Given the description of an element on the screen output the (x, y) to click on. 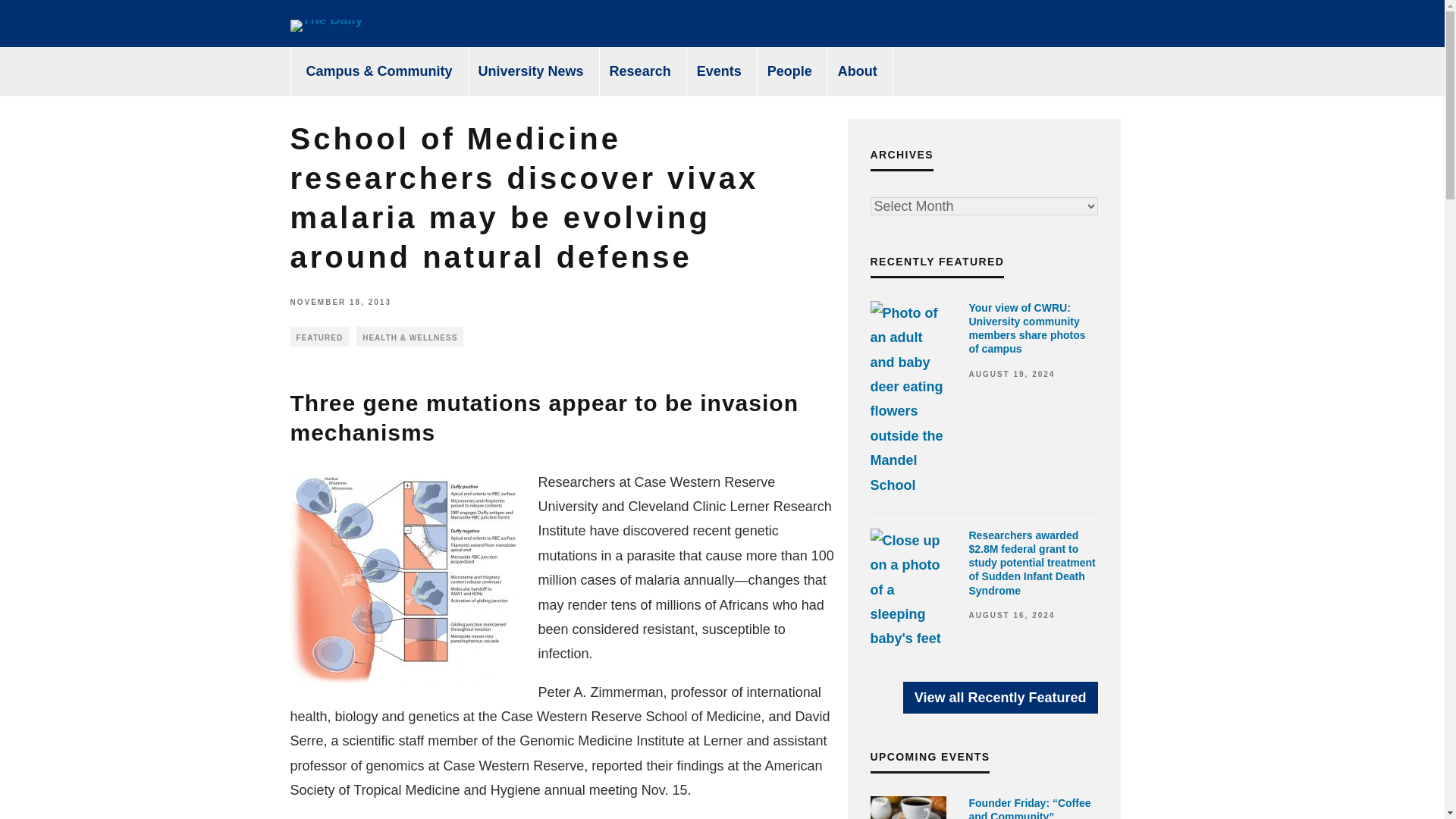
Research (640, 70)
People (790, 70)
View all Recently Featured (999, 697)
Events (719, 70)
University News (531, 70)
About (857, 70)
FEATURED (319, 336)
